Given the description of an element on the screen output the (x, y) to click on. 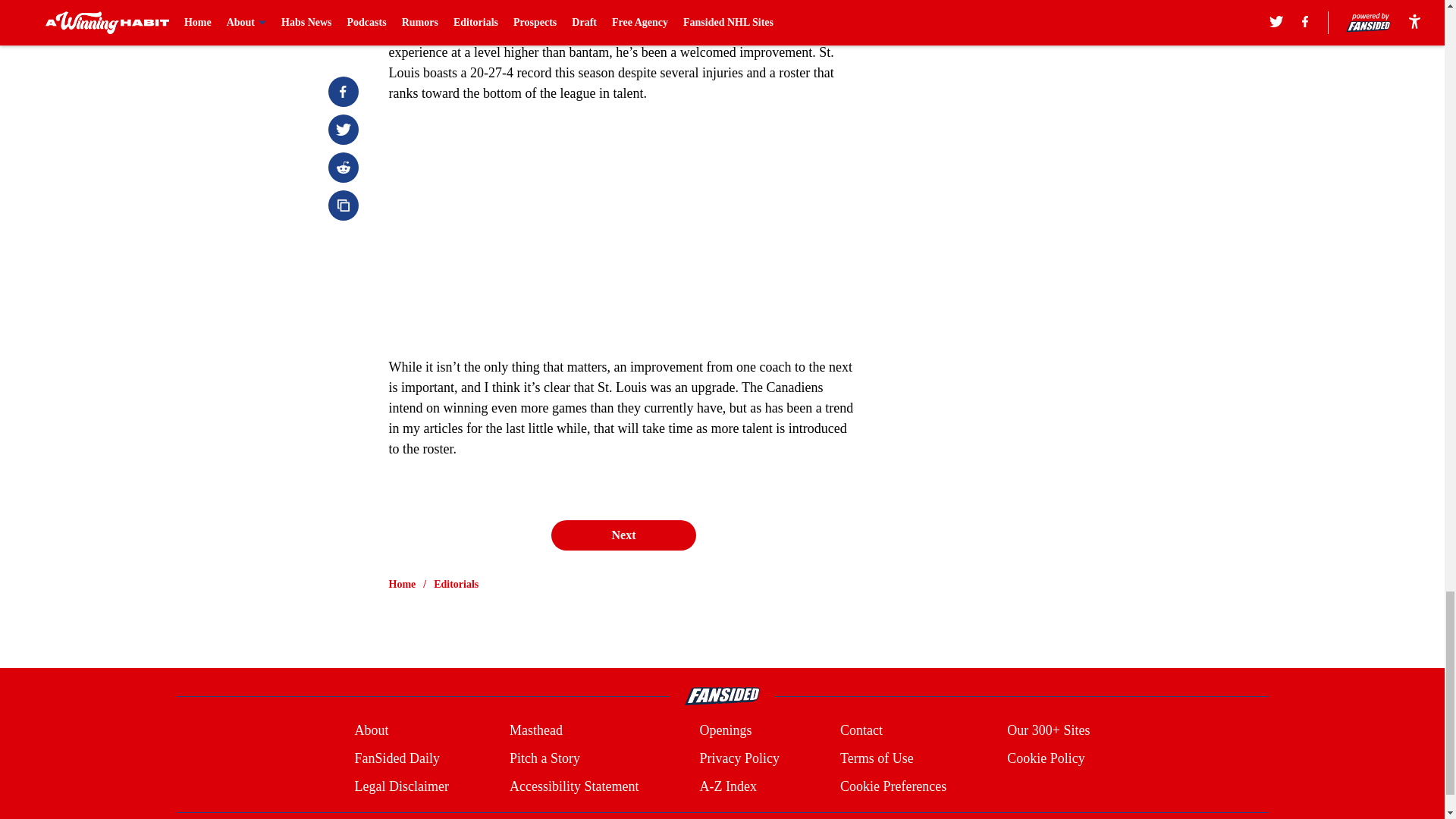
Openings (724, 730)
About (370, 730)
Home (401, 584)
Contact (861, 730)
Next (622, 535)
Masthead (535, 730)
Editorials (456, 584)
